Given the description of an element on the screen output the (x, y) to click on. 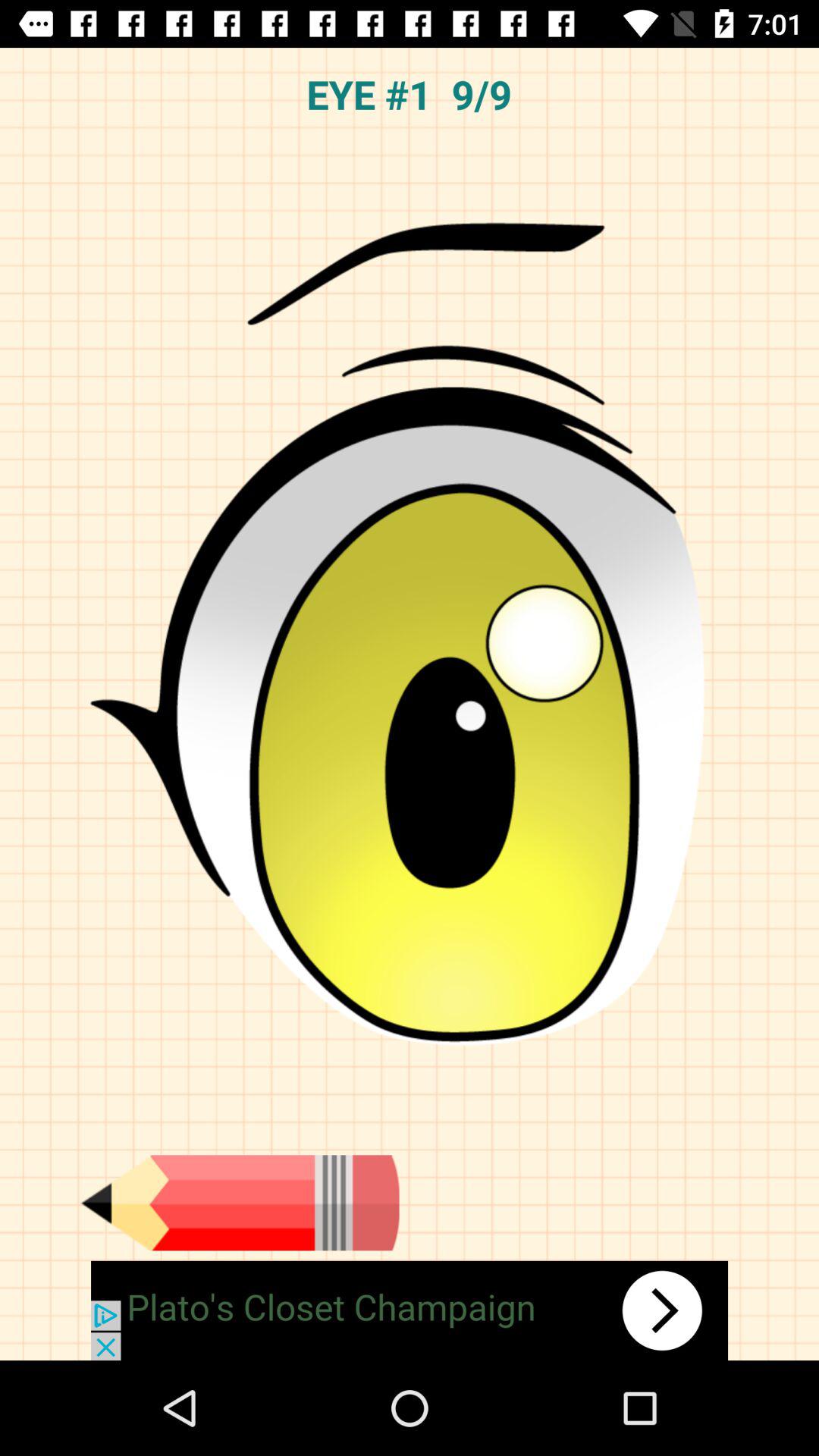
visit advertisement page (409, 1310)
